Given the description of an element on the screen output the (x, y) to click on. 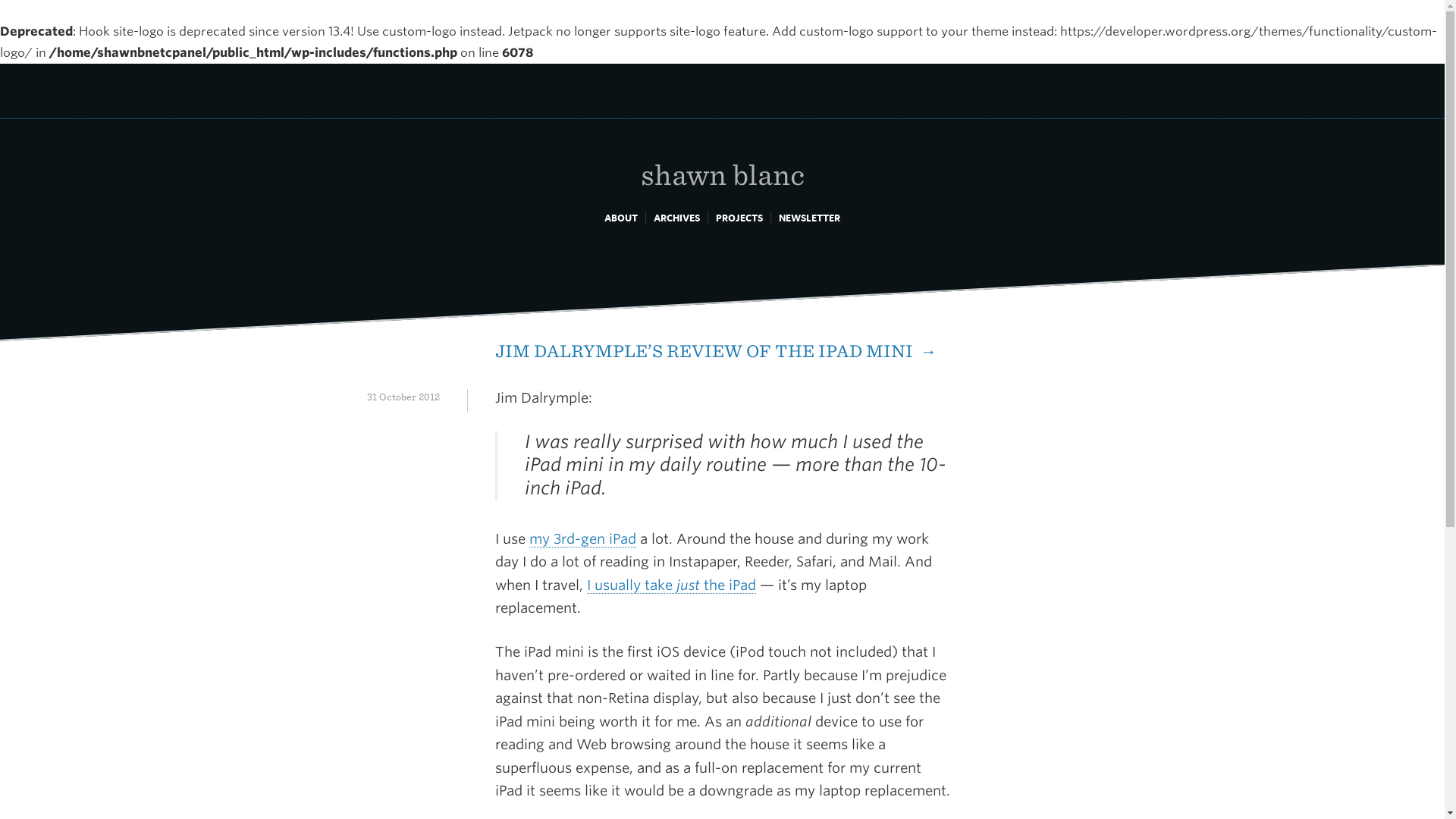
NEWSLETTER (809, 217)
my 3rd-gen iPad (582, 538)
PROJECTS (739, 217)
31 October 2012 (402, 396)
ABOUT (620, 217)
ARCHIVES (676, 217)
shawn blanc (721, 157)
I usually take just the iPad (670, 585)
